Given the description of an element on the screen output the (x, y) to click on. 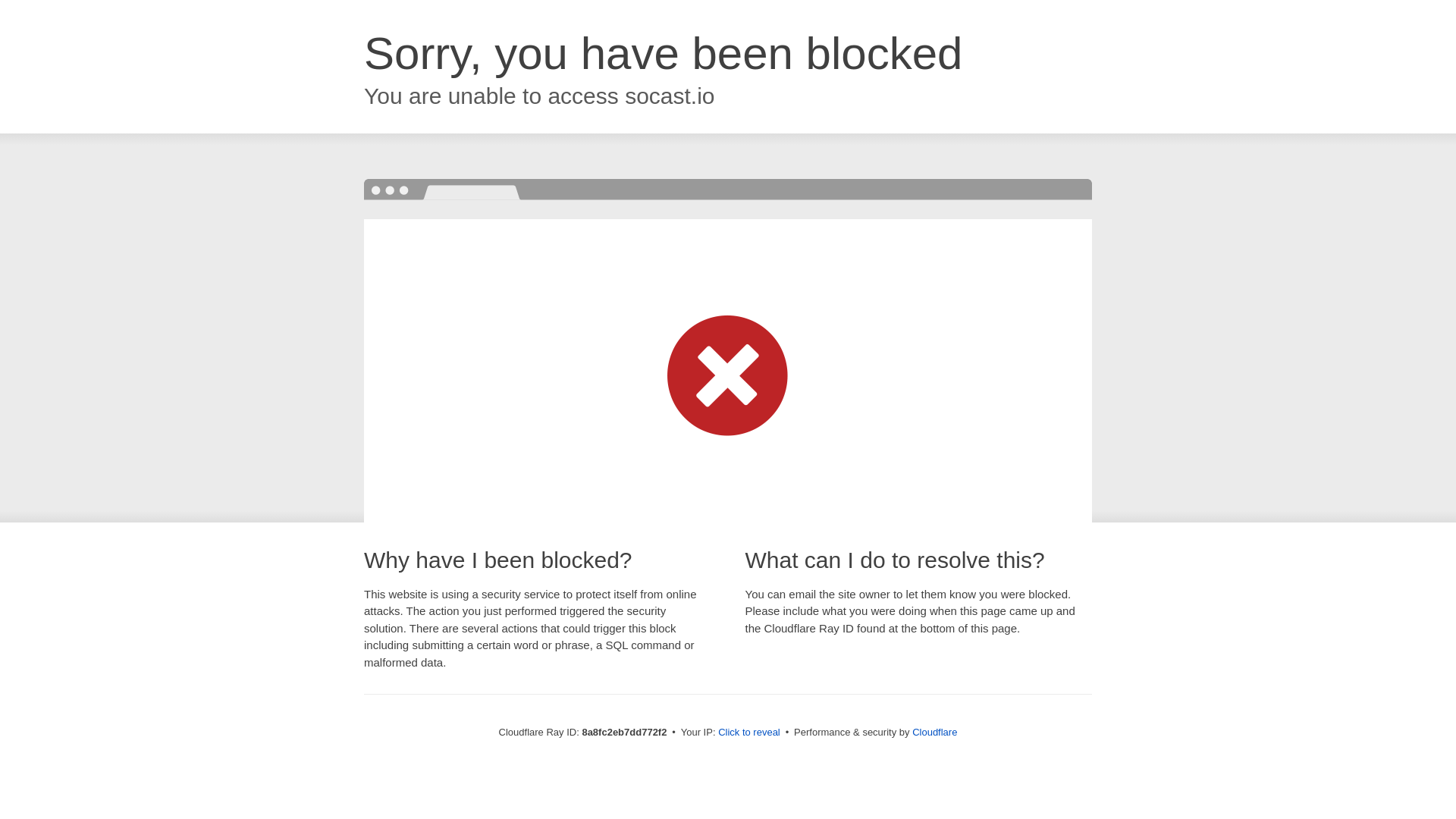
Click to reveal (748, 732)
Cloudflare (934, 731)
